Given the description of an element on the screen output the (x, y) to click on. 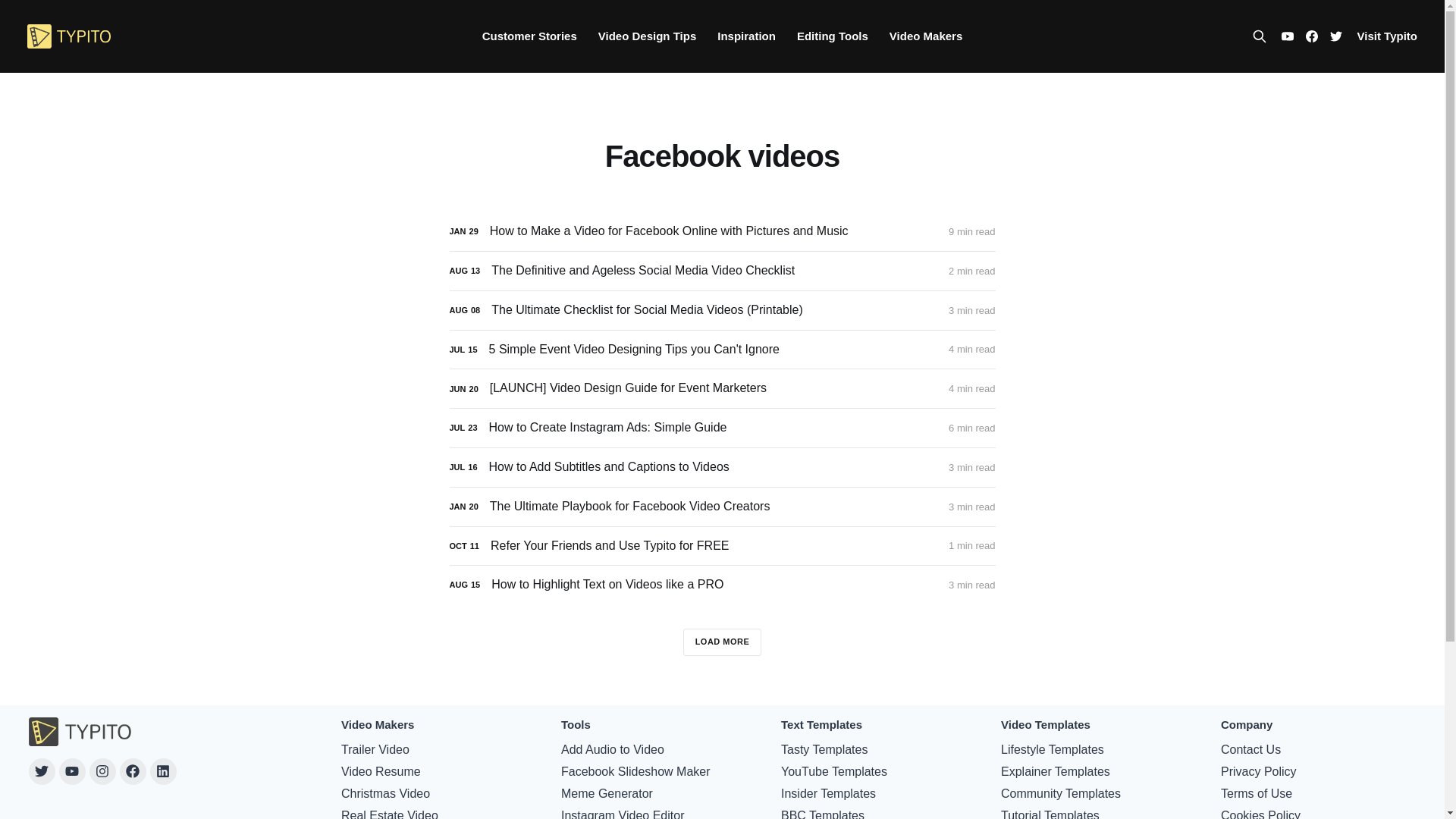
Trailer Video (374, 750)
Christmas Video (384, 793)
Video Design Tips (646, 35)
LOAD MORE (721, 642)
Inspiration (746, 35)
Customer Stories (528, 35)
Instagram (102, 771)
LinkedIn (162, 771)
Twitter (42, 771)
Real Estate Video (389, 812)
Video Makers (925, 35)
Facebook (133, 771)
Video Resume (380, 771)
YouTube (72, 771)
Visit Typito (1386, 36)
